Given the description of an element on the screen output the (x, y) to click on. 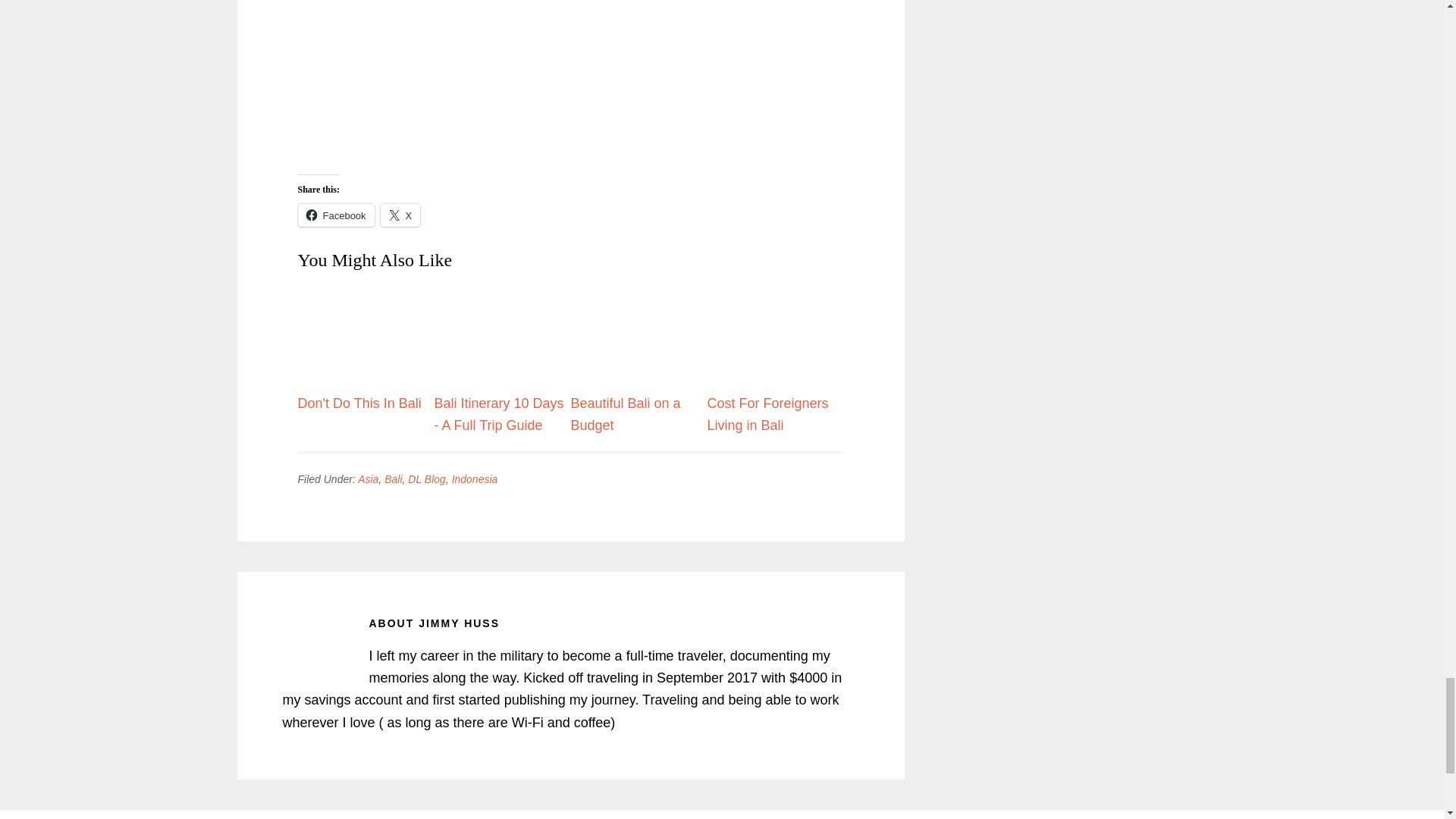
Click to share on Facebook (335, 214)
Click to share on X (400, 214)
